Given the description of an element on the screen output the (x, y) to click on. 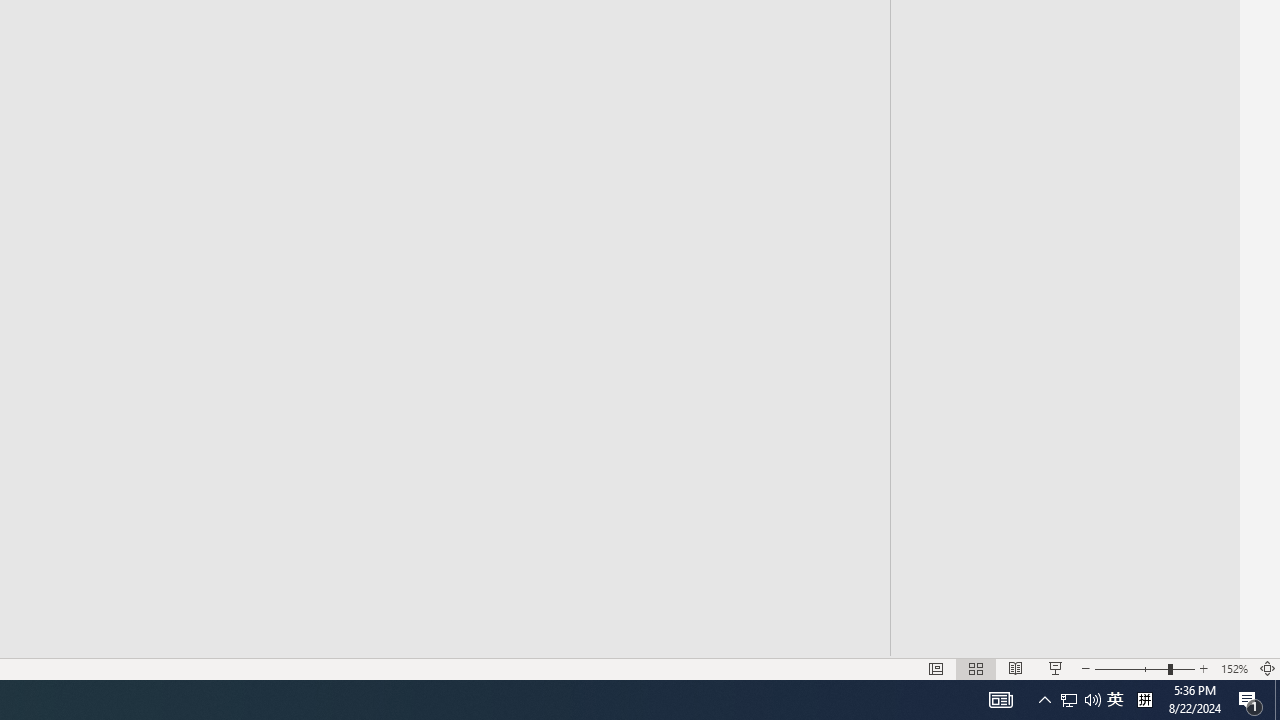
Zoom 152% (1234, 668)
